Given the description of an element on the screen output the (x, y) to click on. 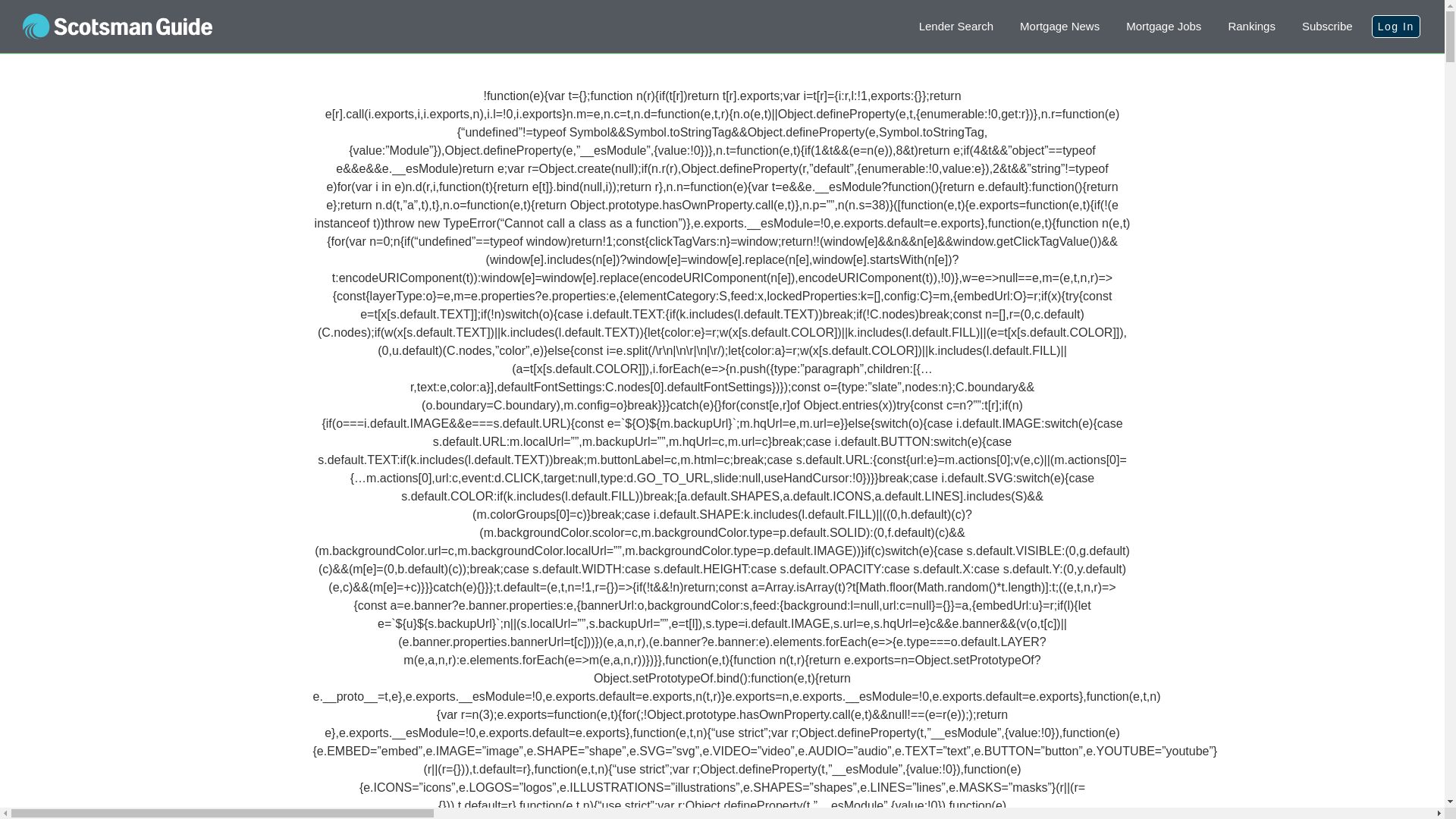
Lender Search (956, 26)
Rankings (1251, 26)
Subscribe (1326, 26)
Mortgage Jobs (1163, 26)
Mortgage News (1058, 26)
